Given the description of an element on the screen output the (x, y) to click on. 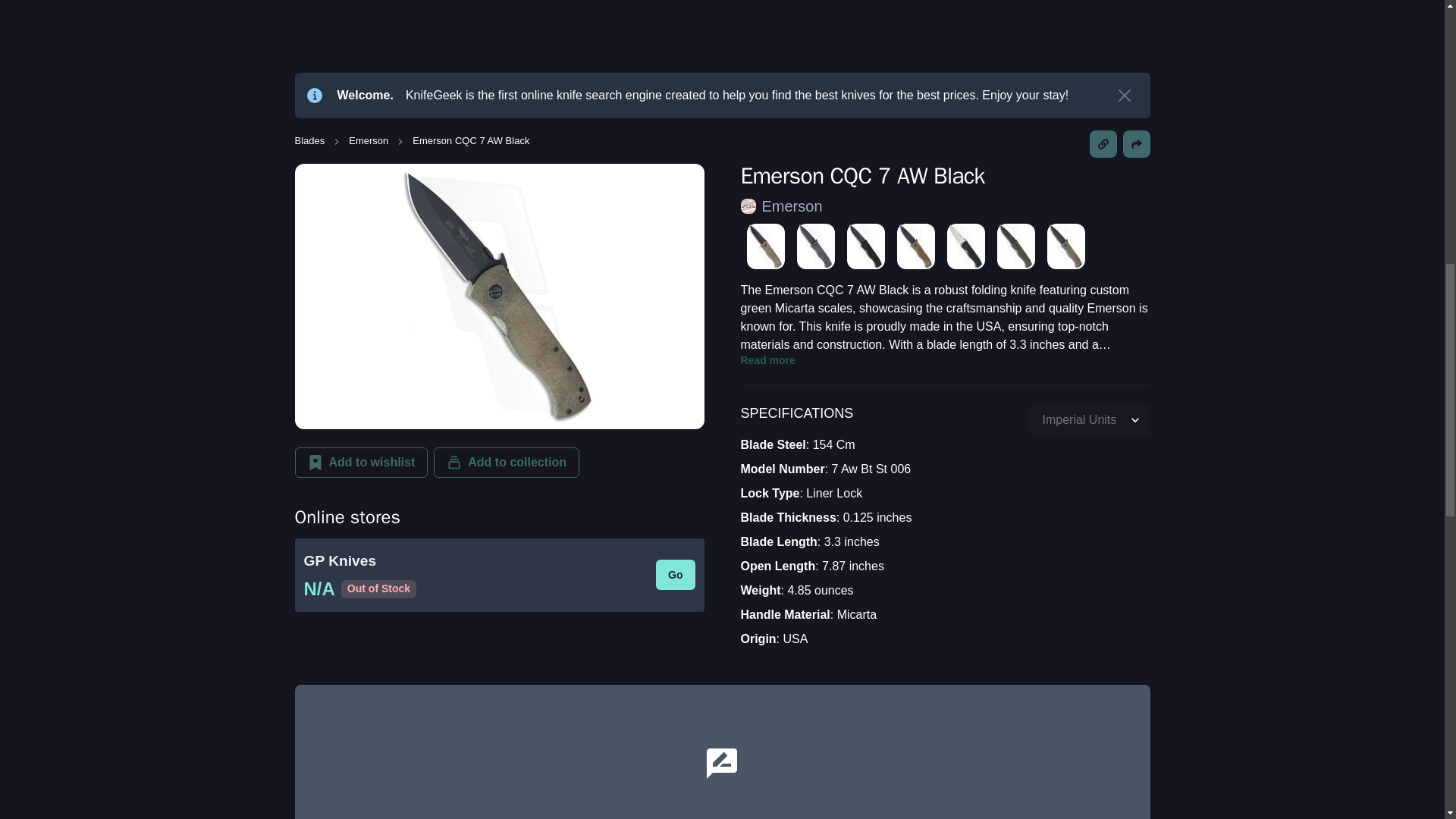
Emerson CQC 7 AW Black (470, 140)
Emerson (368, 140)
Emerson (791, 205)
Blades (309, 140)
Add to wishlist (361, 462)
Go (675, 574)
Add to collection (506, 462)
